Given the description of an element on the screen output the (x, y) to click on. 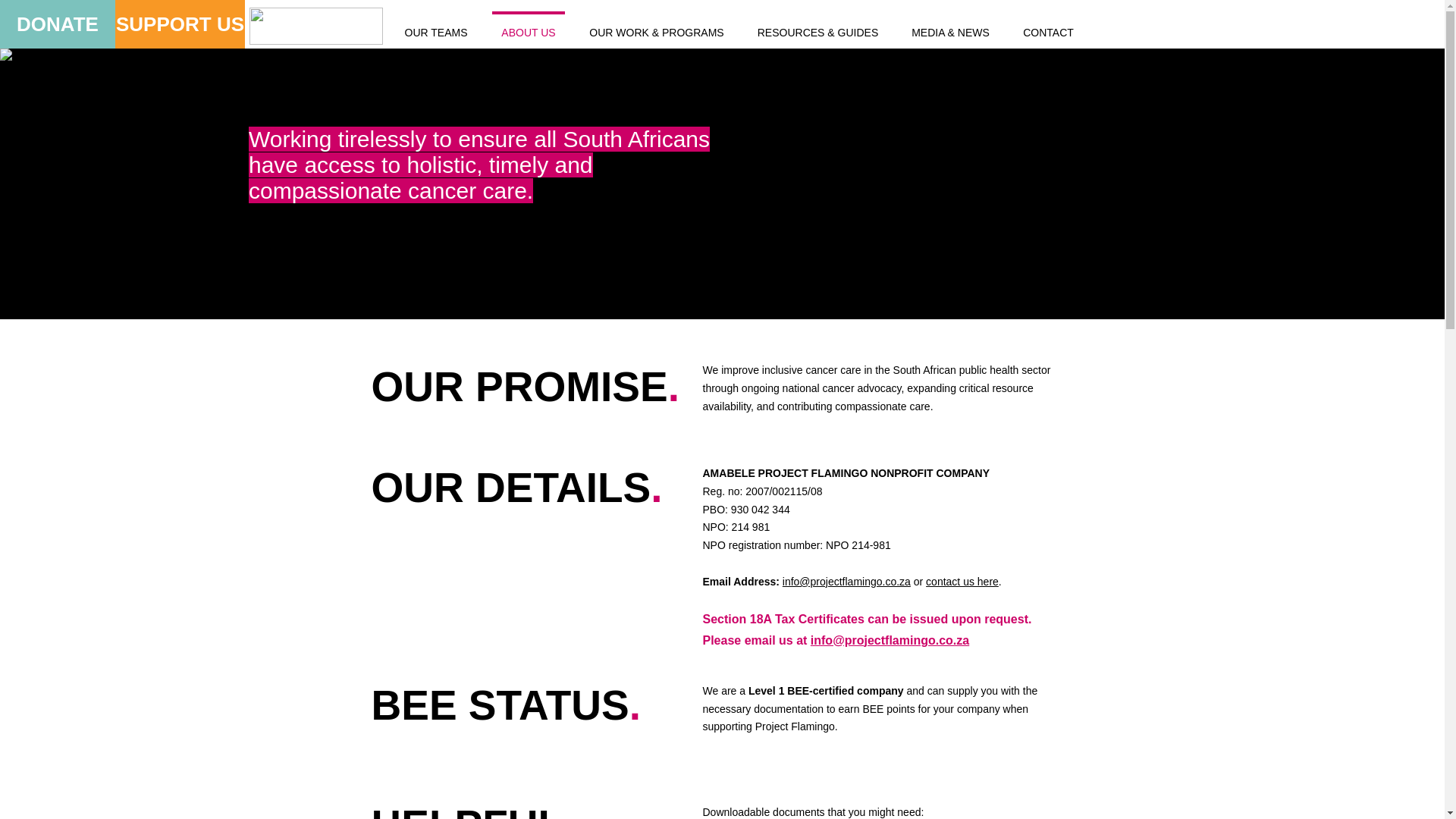
CONTACT (1048, 25)
OUR TEAMS (435, 25)
ABOUT US (528, 25)
DONATE (57, 24)
SUPPORT US (179, 24)
Project flamingo logo new4.png (315, 26)
contact us here (962, 581)
